Given the description of an element on the screen output the (x, y) to click on. 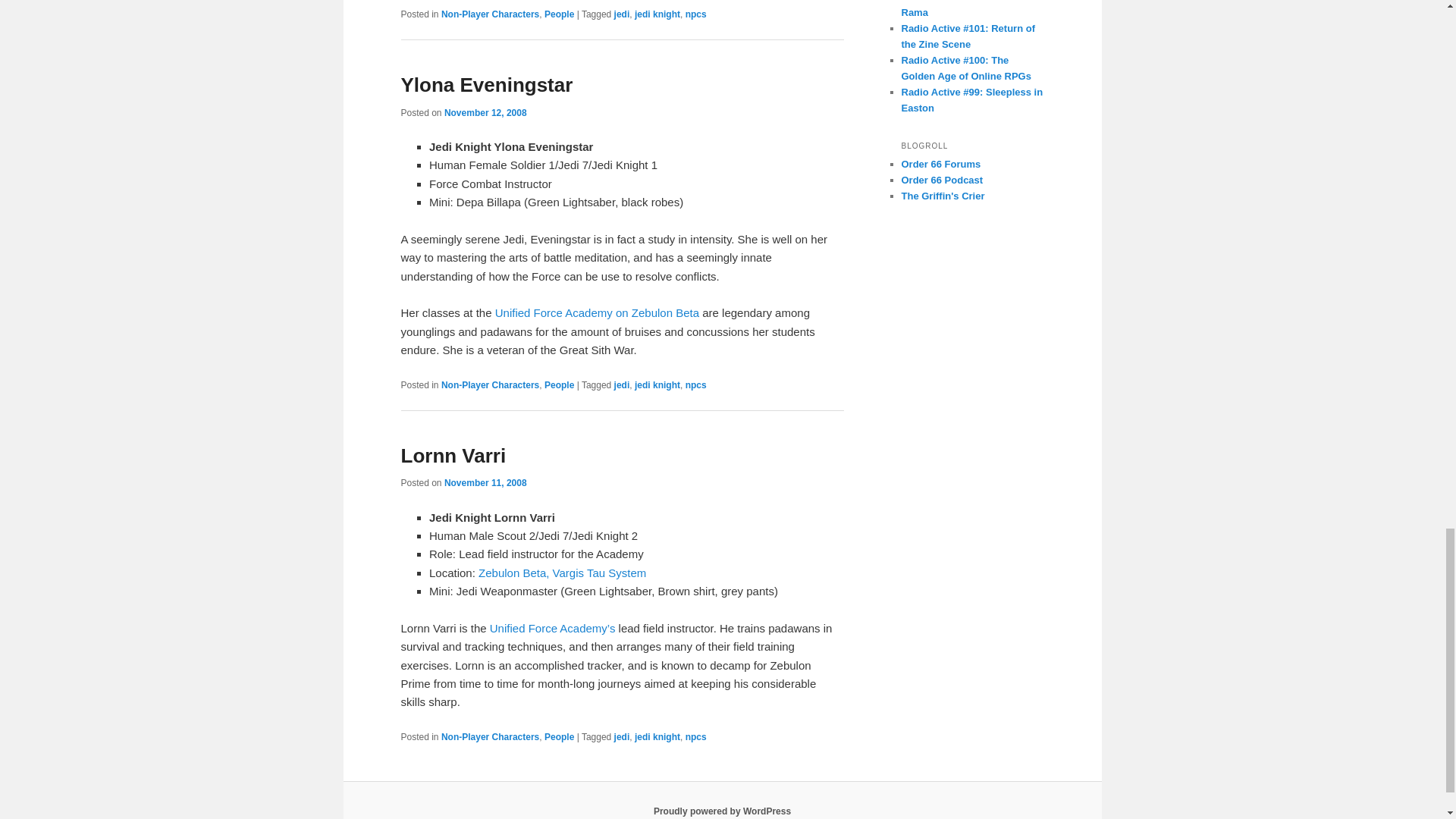
Semantic Personal Publishing Platform (721, 810)
8:29 pm (485, 482)
9:56 am (485, 112)
The home page for our gaming group. (942, 195)
The forums for the Order 66 podcast. (940, 163)
A fan podcast dedicated to Star Wars: Saga Edition (941, 179)
